Given the description of an element on the screen output the (x, y) to click on. 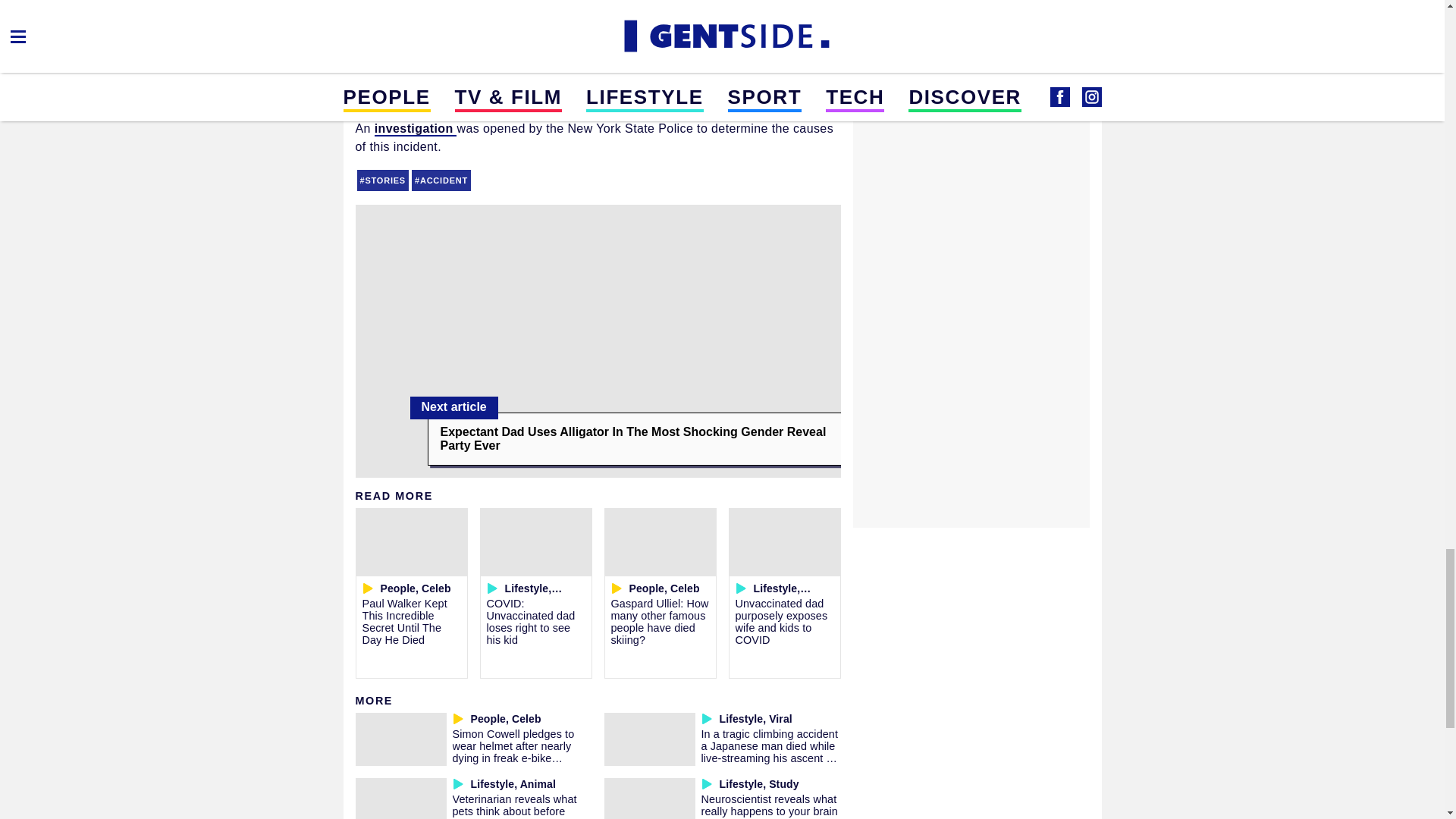
View this post on Instagram (598, 26)
COVID: Unvaccinated dad loses right to see his kid (530, 621)
Unvaccinated dad purposely exposes wife and kids to COVID (781, 621)
investigation (415, 128)
